Given the description of an element on the screen output the (x, y) to click on. 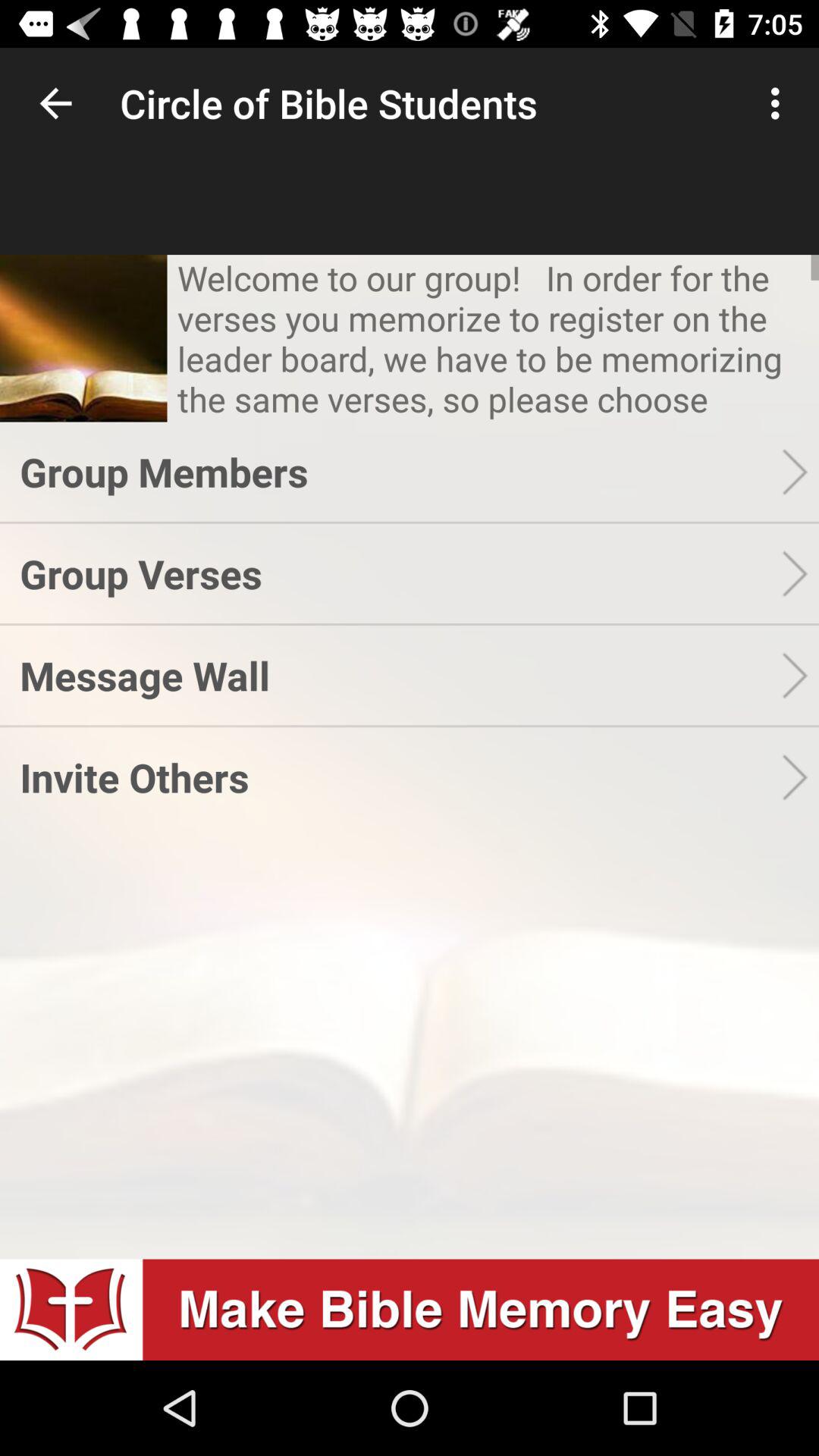
select the app below message wall (399, 776)
